Given the description of an element on the screen output the (x, y) to click on. 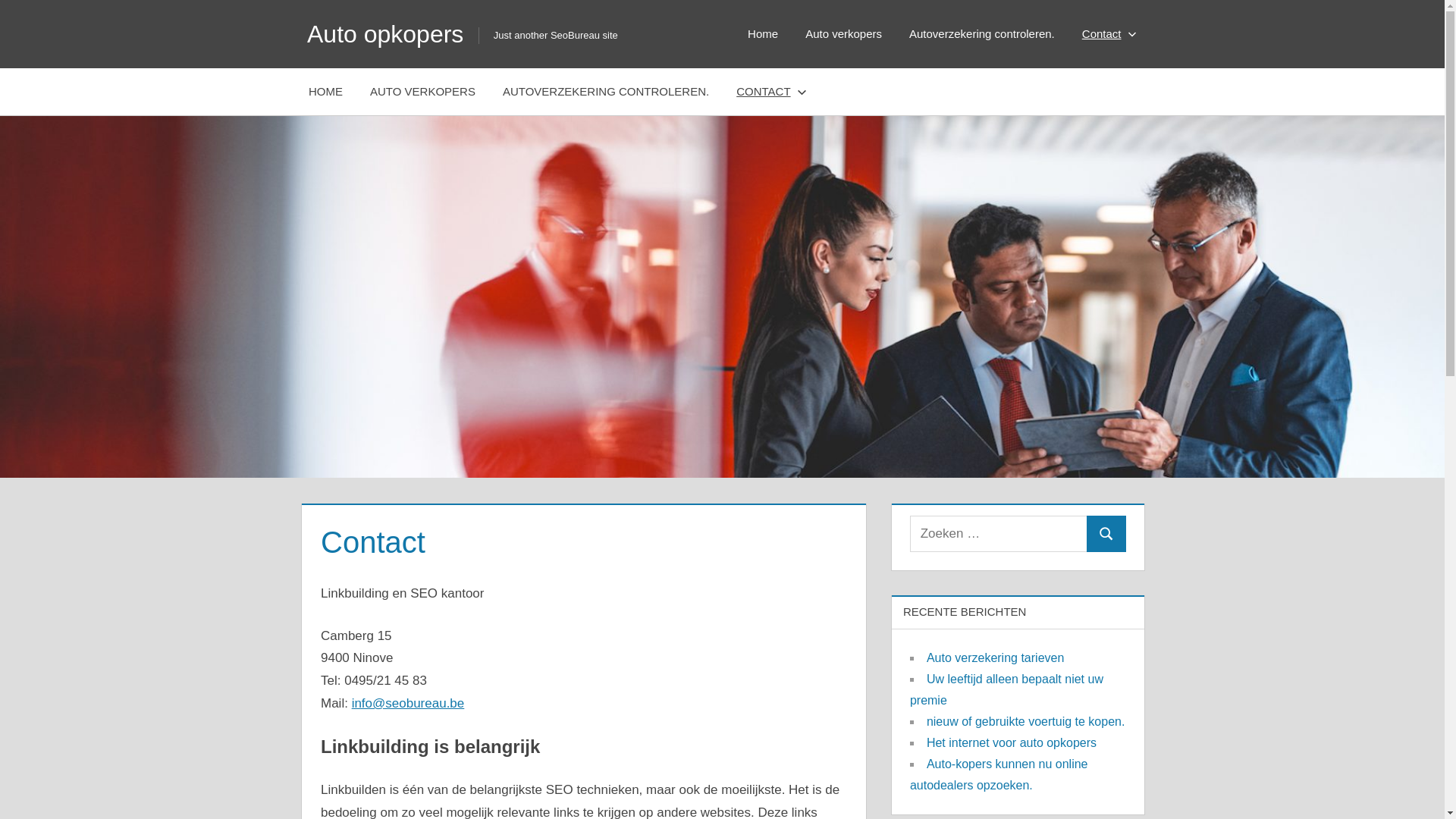
Zoeken naar: Element type: hover (998, 533)
Auto-kopers kunnen nu online autodealers opzoeken. Element type: text (999, 774)
Auto opkopers Element type: text (385, 33)
Uw leeftijd alleen bepaalt niet uw premie Element type: text (1006, 689)
Auto verzekering tarieven Element type: text (994, 657)
Home Element type: text (762, 33)
HOME Element type: text (325, 91)
Zoeken Element type: text (1105, 533)
AUTOVERZEKERING CONTROLEREN. Element type: text (605, 91)
Autoverzekering controleren. Element type: text (981, 33)
info@seobureau.be Element type: text (407, 703)
Het internet voor auto opkopers Element type: text (1011, 742)
nieuw of gebruikte voertuig te kopen. Element type: text (1025, 721)
AUTO VERKOPERS Element type: text (422, 91)
Contact Element type: text (1106, 33)
CONTACT Element type: text (767, 91)
Auto verkopers Element type: text (843, 33)
